Given the description of an element on the screen output the (x, y) to click on. 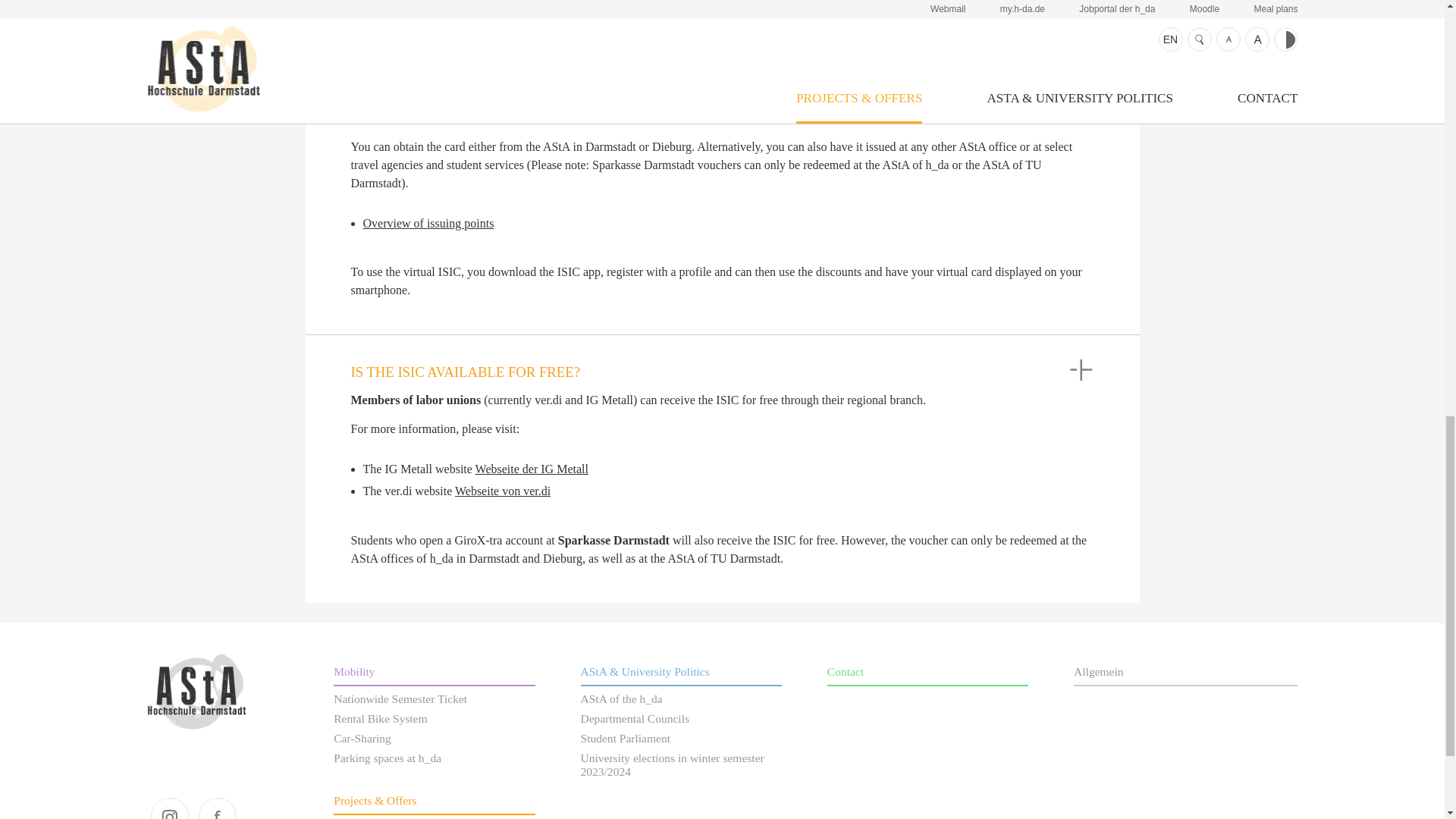
Webseite von ver.di (502, 490)
Overview of issuing points (427, 223)
Webseite der IG Metall (532, 468)
